Given the description of an element on the screen output the (x, y) to click on. 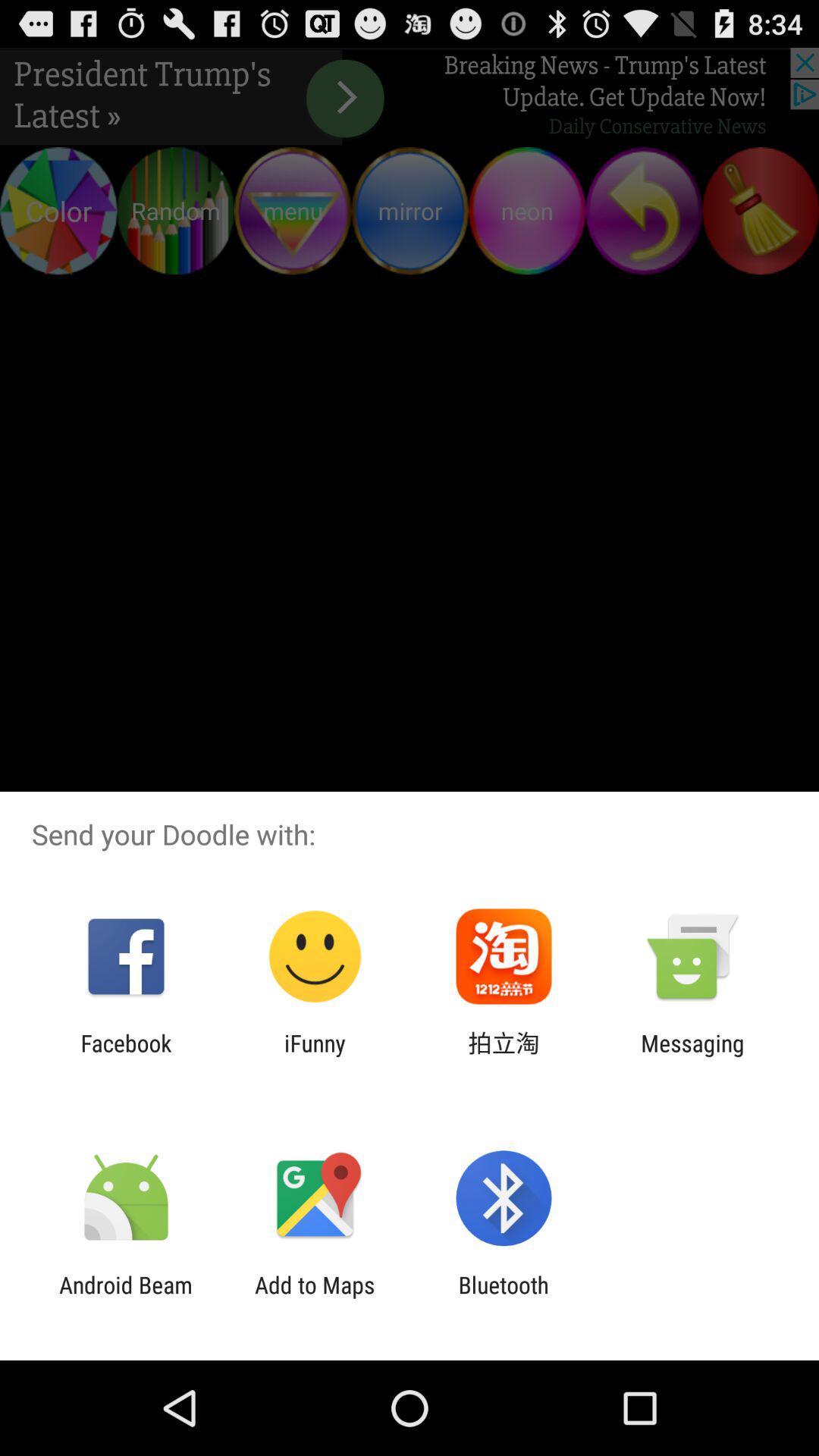
turn on item to the left of bluetooth (314, 1298)
